Given the description of an element on the screen output the (x, y) to click on. 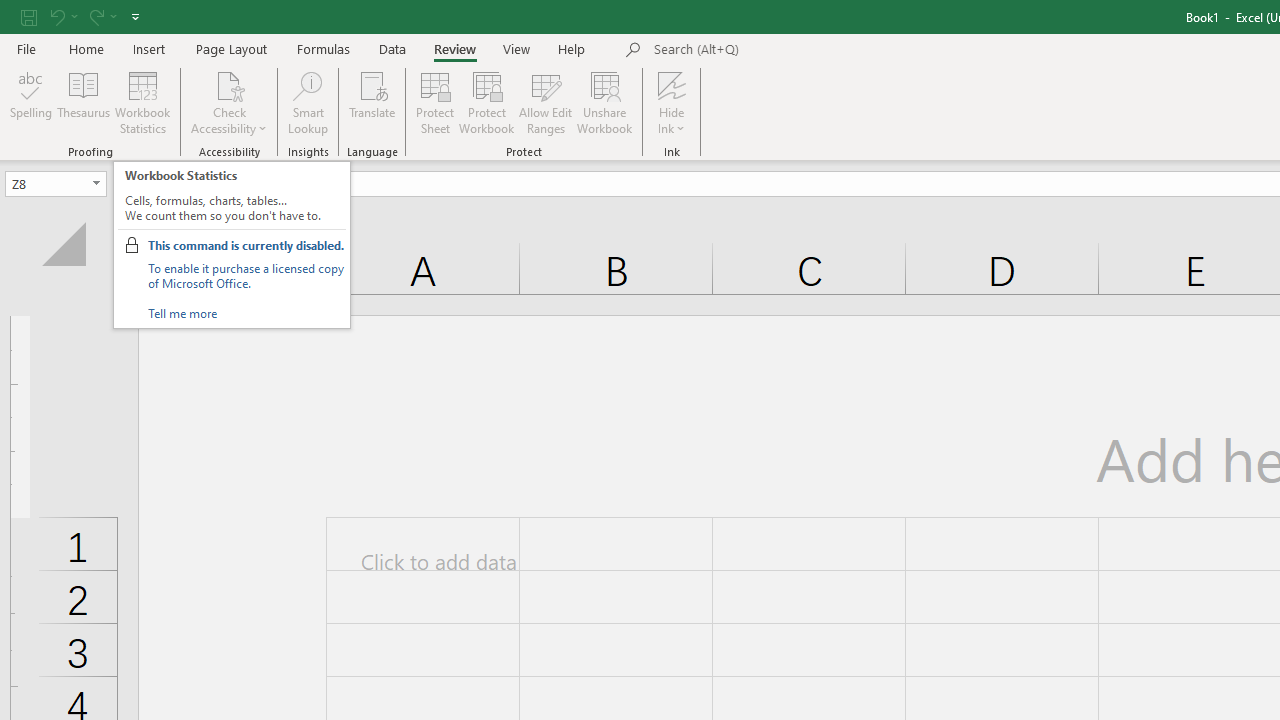
Spelling... (31, 102)
Unshare Workbook (604, 102)
